Given the description of an element on the screen output the (x, y) to click on. 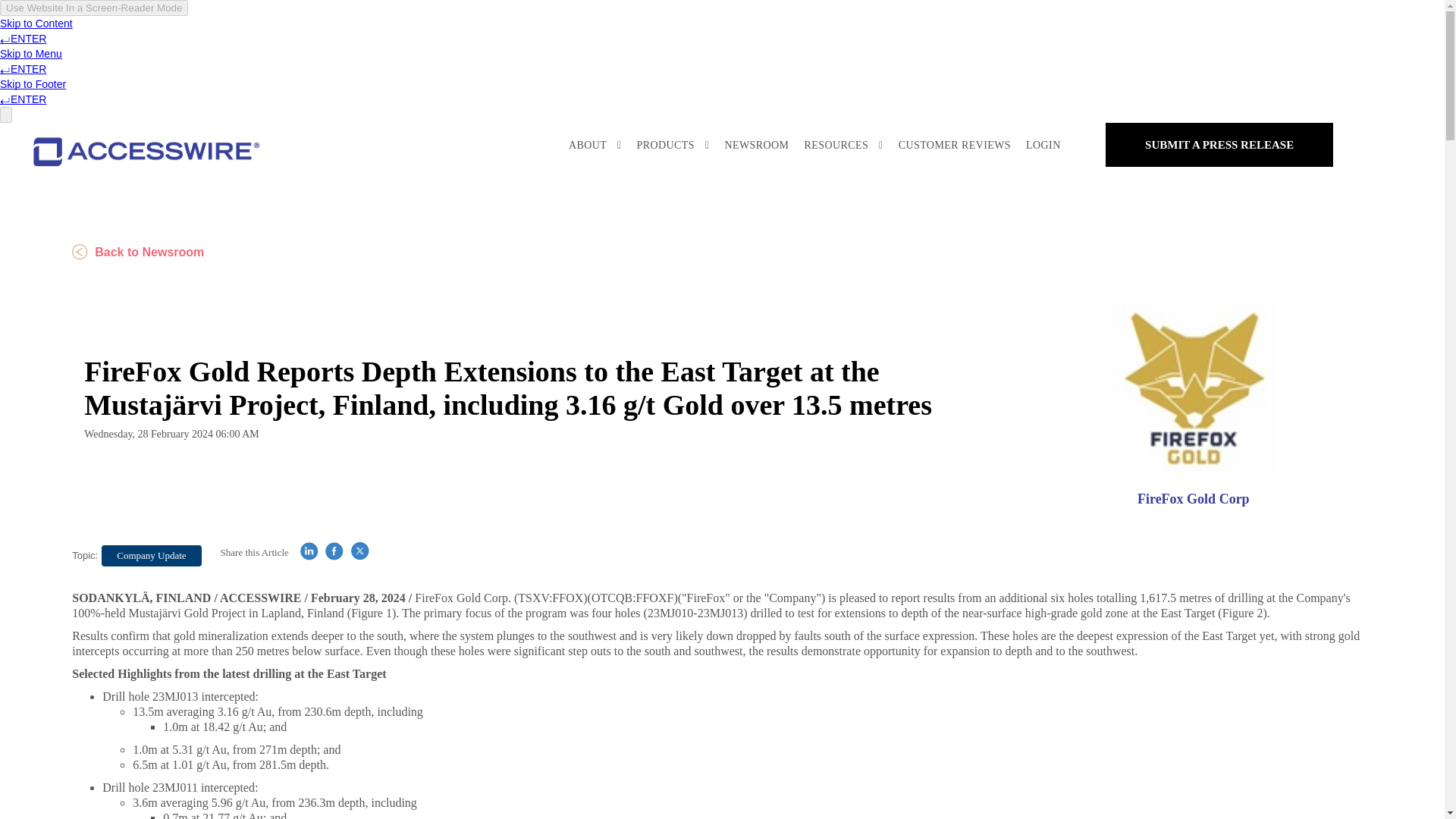
ABOUT (594, 145)
PRODUCTS (672, 145)
